Given the description of an element on the screen output the (x, y) to click on. 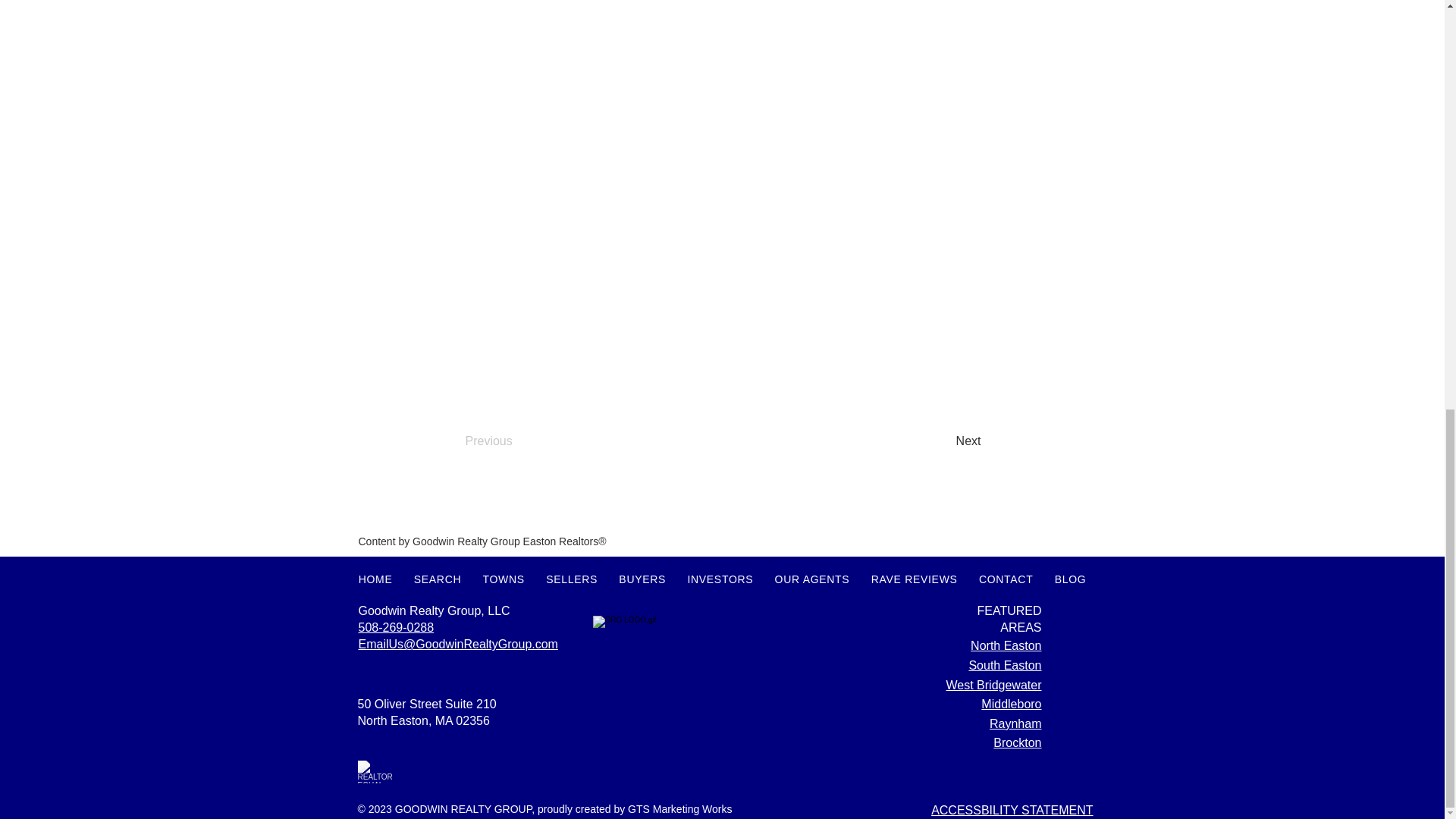
HOME (374, 579)
Next (943, 440)
Previous (515, 440)
